Given the description of an element on the screen output the (x, y) to click on. 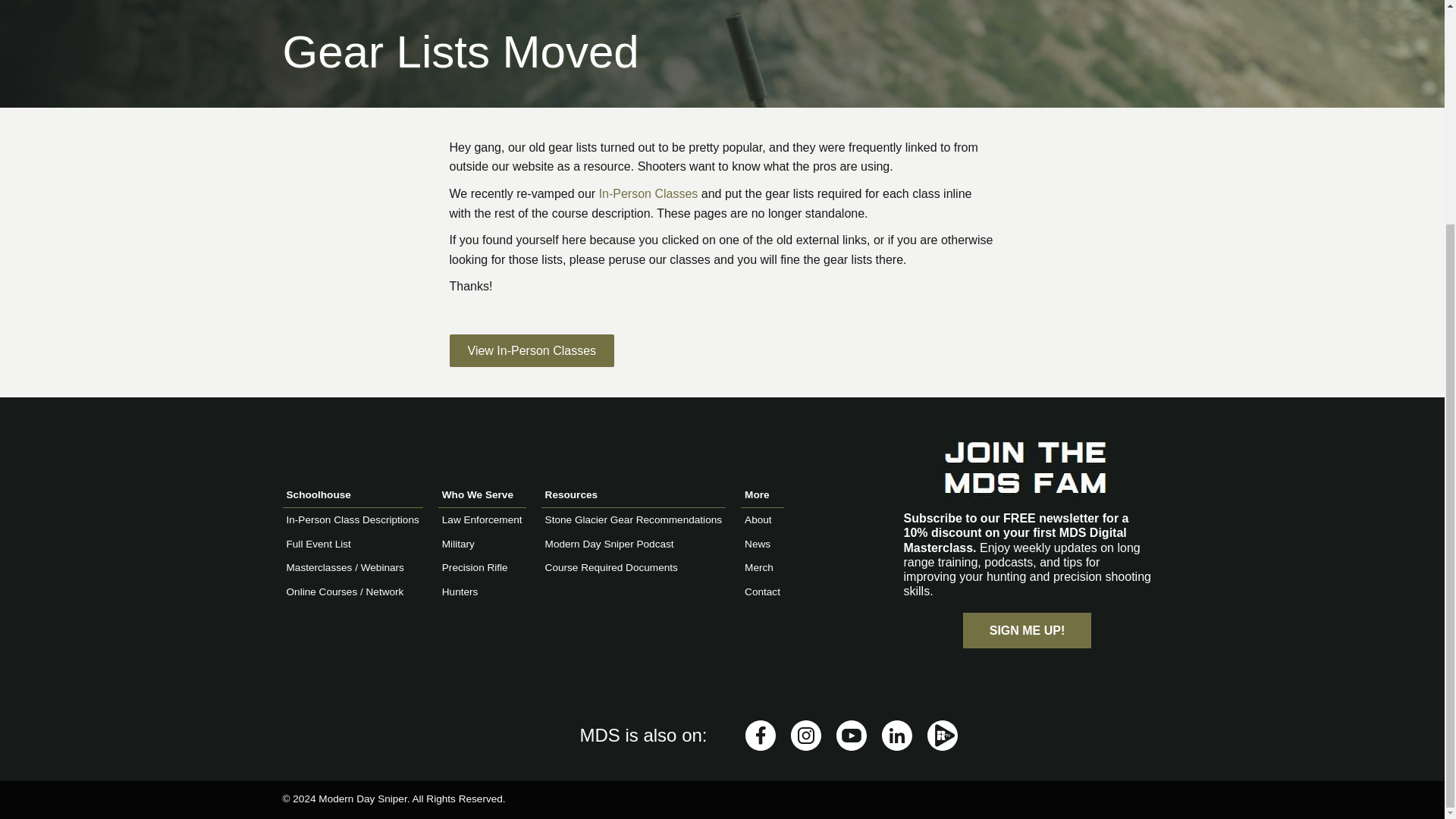
In-Person Classes (648, 193)
Visit Modern Day Sniper on LinkedIn (895, 735)
Visit the Modern Day Sniper Facebook Page (759, 735)
Law Enforcement (482, 519)
View In-Person Classes (531, 350)
About (757, 519)
More (762, 495)
Who We Serve (481, 495)
Stone Glacier Gear Recommendations (633, 519)
Schoolhouse (352, 495)
